Given the description of an element on the screen output the (x, y) to click on. 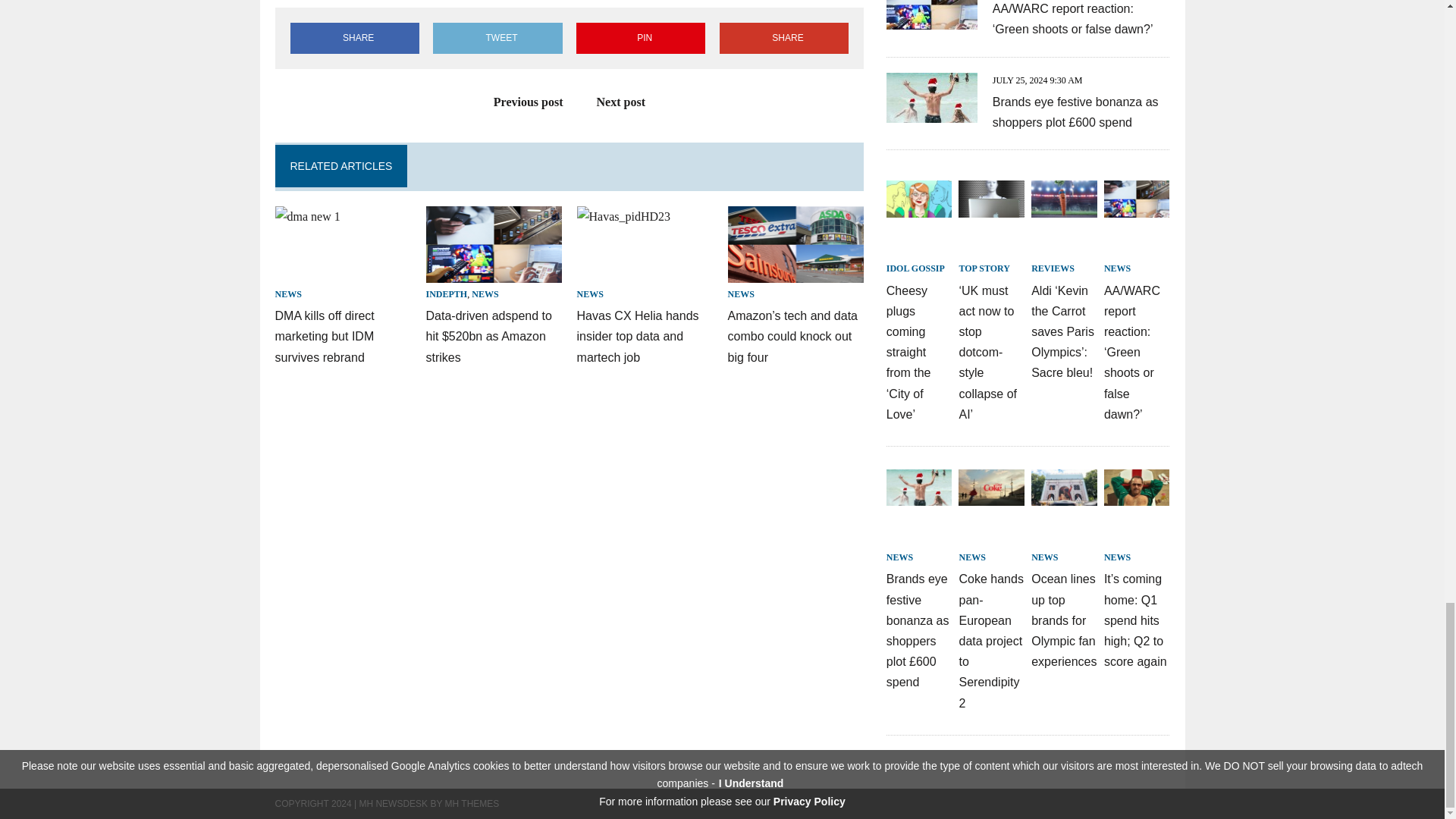
Pin This Post (640, 37)
Tweet This Post (497, 37)
Share on Facebook (354, 37)
